Given the description of an element on the screen output the (x, y) to click on. 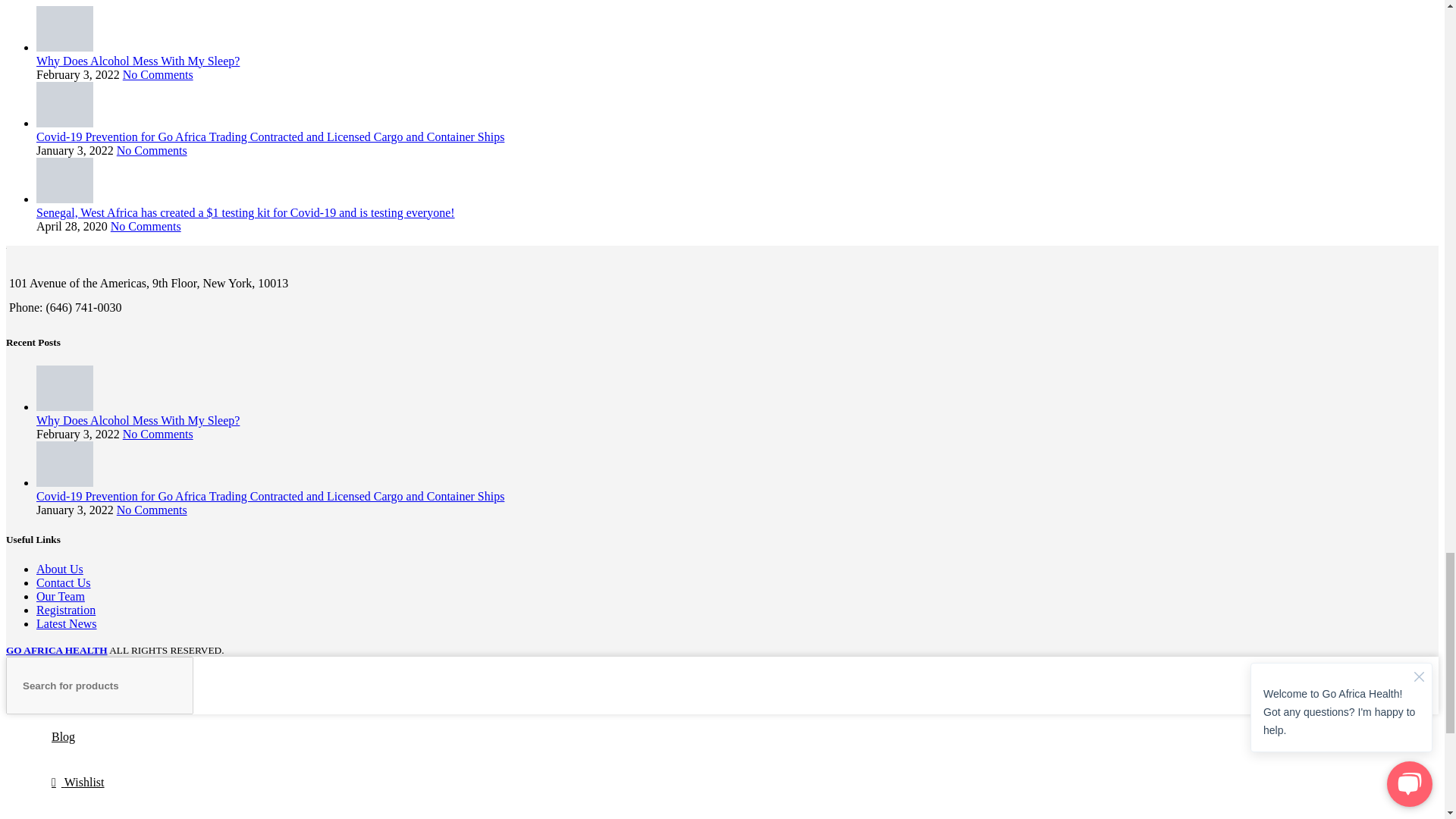
Permalink to Why Does Alcohol Mess With My Sleep? (138, 60)
